Given the description of an element on the screen output the (x, y) to click on. 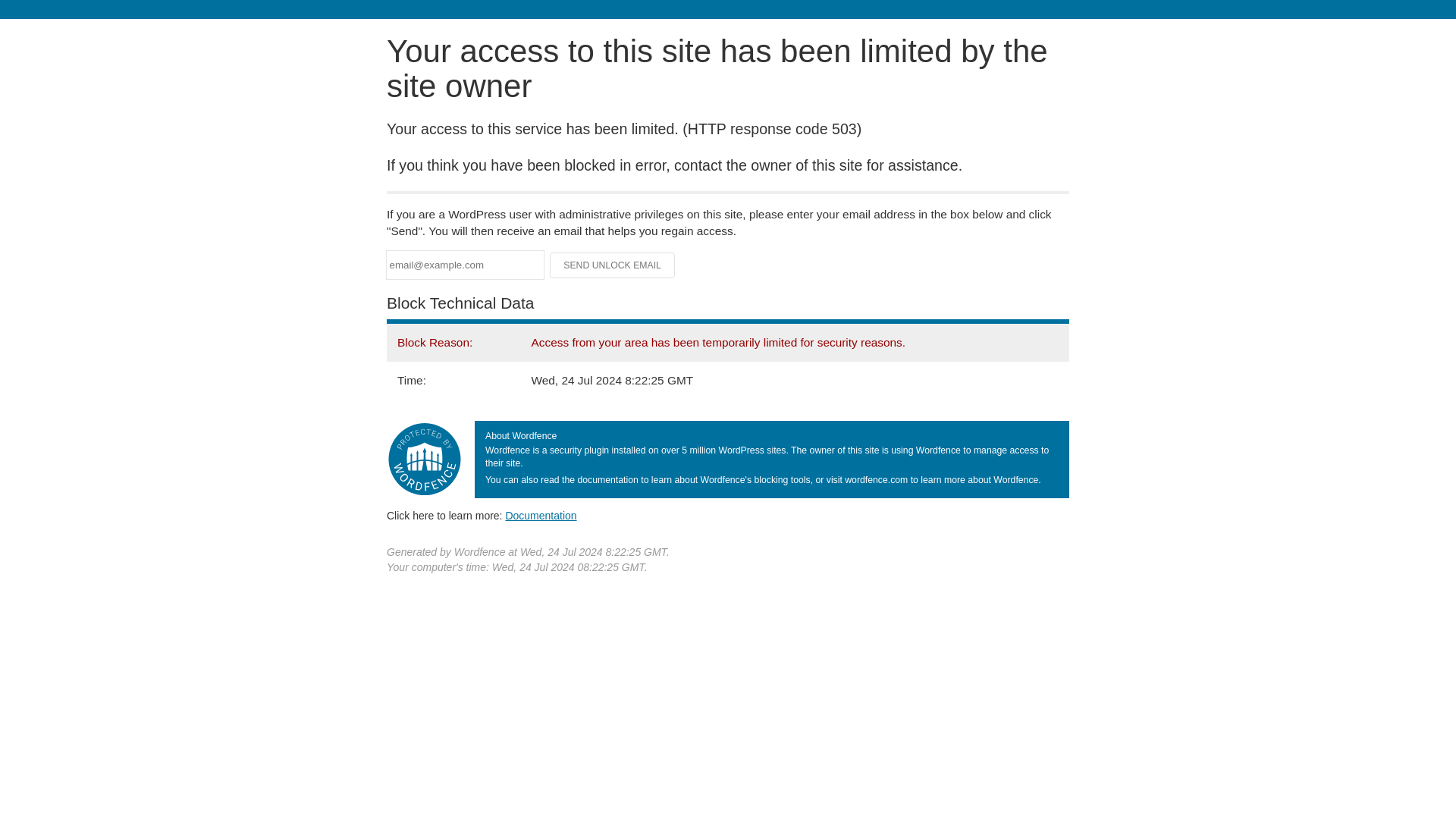
Send Unlock Email (612, 265)
Send Unlock Email (612, 265)
Documentation (540, 515)
